Given the description of an element on the screen output the (x, y) to click on. 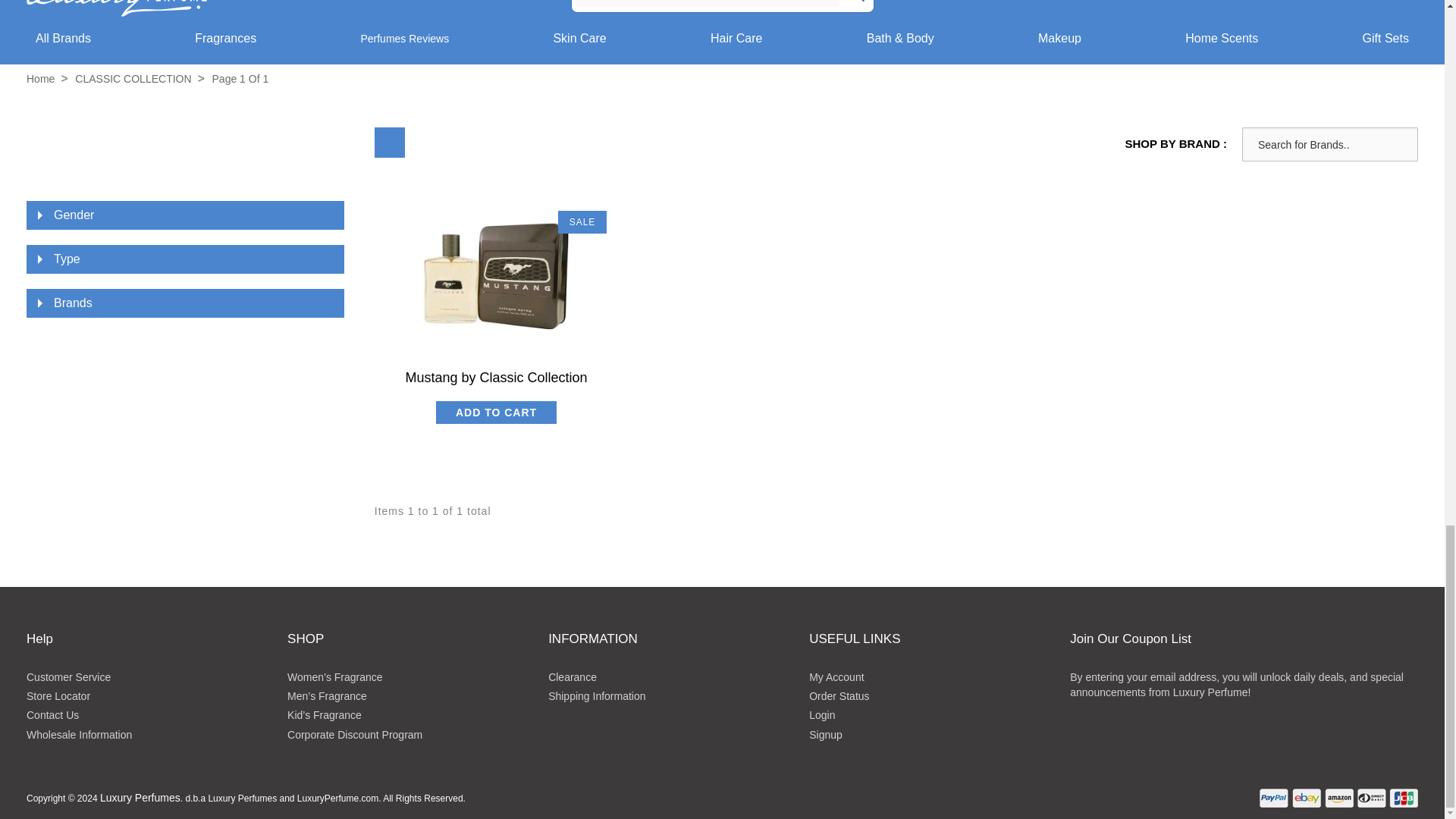
Store Locator (58, 695)
Type in a name (1329, 144)
Grid (389, 142)
List (431, 142)
Shopping Cart (1409, 4)
Contact Us (52, 715)
Skin Care (579, 38)
Makeup (1059, 38)
Clearance (572, 676)
Luxury Perfumes (40, 78)
